Given the description of an element on the screen output the (x, y) to click on. 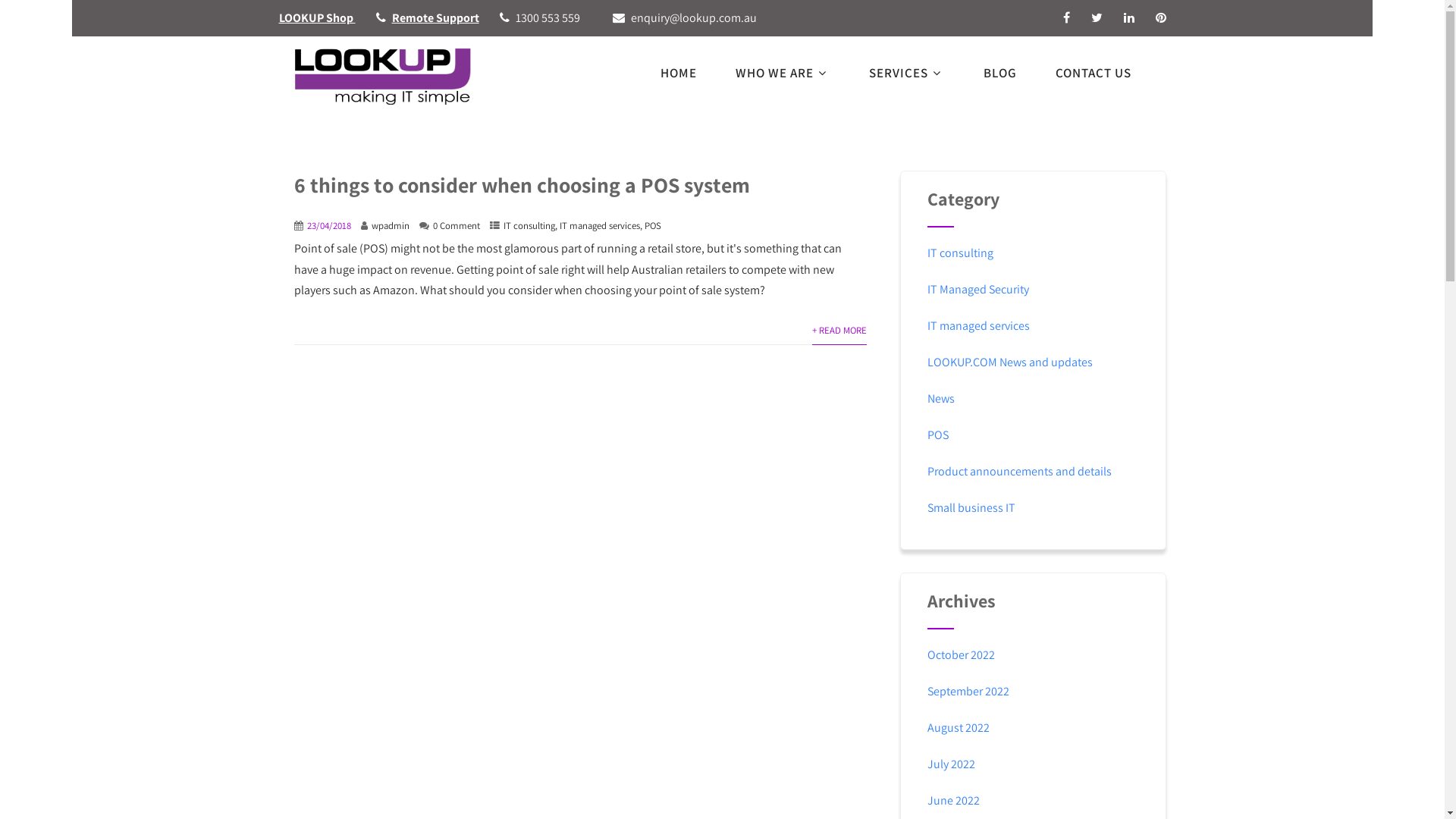
23/04/2018 Element type: text (328, 225)
facebook Element type: hover (1066, 17)
twitter Element type: hover (1095, 17)
WHO WE ARE Element type: text (782, 72)
+ READ MORE Element type: text (839, 330)
June 2022 Element type: text (953, 800)
BLOG Element type: text (999, 72)
enquiry@lookup.com.au Element type: text (693, 17)
IT consulting Element type: text (529, 225)
HOME Element type: text (677, 72)
wpadmin Element type: text (390, 225)
September 2022 Element type: text (968, 691)
News Element type: text (940, 398)
IT managed services Element type: text (599, 225)
POS Element type: text (652, 225)
IT Managed Security Element type: text (978, 289)
Small business IT Element type: text (971, 507)
Product announcements and details Element type: text (1019, 471)
Remote Support Element type: text (434, 17)
SERVICES Element type: text (906, 72)
LOOKUP.COM News and updates Element type: text (1009, 362)
October 2022 Element type: text (960, 654)
IT consulting Element type: text (960, 252)
linkedin Element type: hover (1128, 17)
CONTACT US Element type: text (1101, 72)
LOOKUP Shop Element type: text (317, 17)
August 2022 Element type: text (958, 727)
POS Element type: text (937, 434)
July 2022 Element type: text (951, 763)
6 things to consider when choosing a POS system Element type: text (521, 184)
pinterest Element type: hover (1160, 17)
0 Comment Element type: text (455, 225)
IT managed services Element type: text (978, 325)
